Given the description of an element on the screen output the (x, y) to click on. 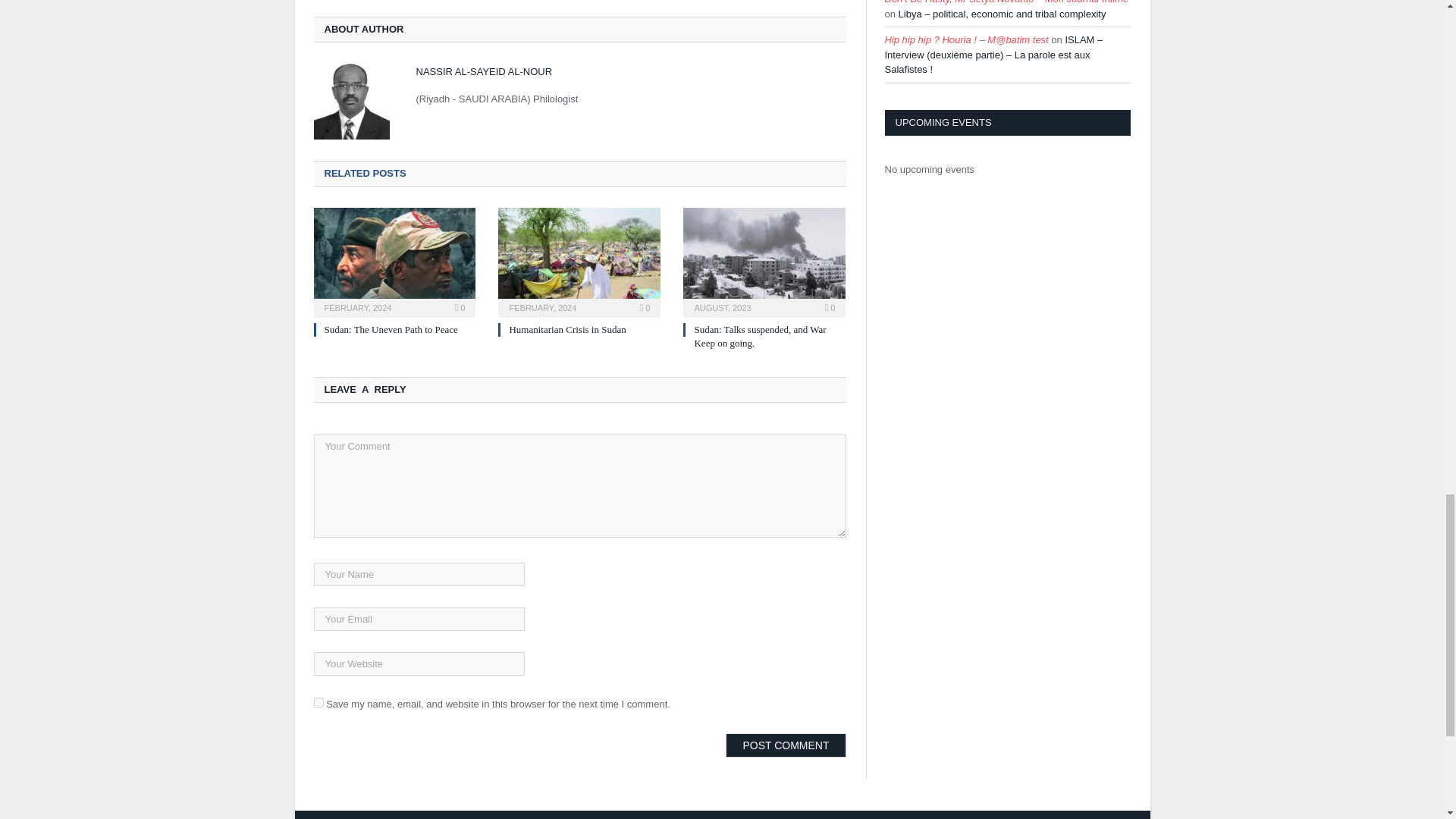
Post Comment (785, 745)
yes (318, 702)
